Given the description of an element on the screen output the (x, y) to click on. 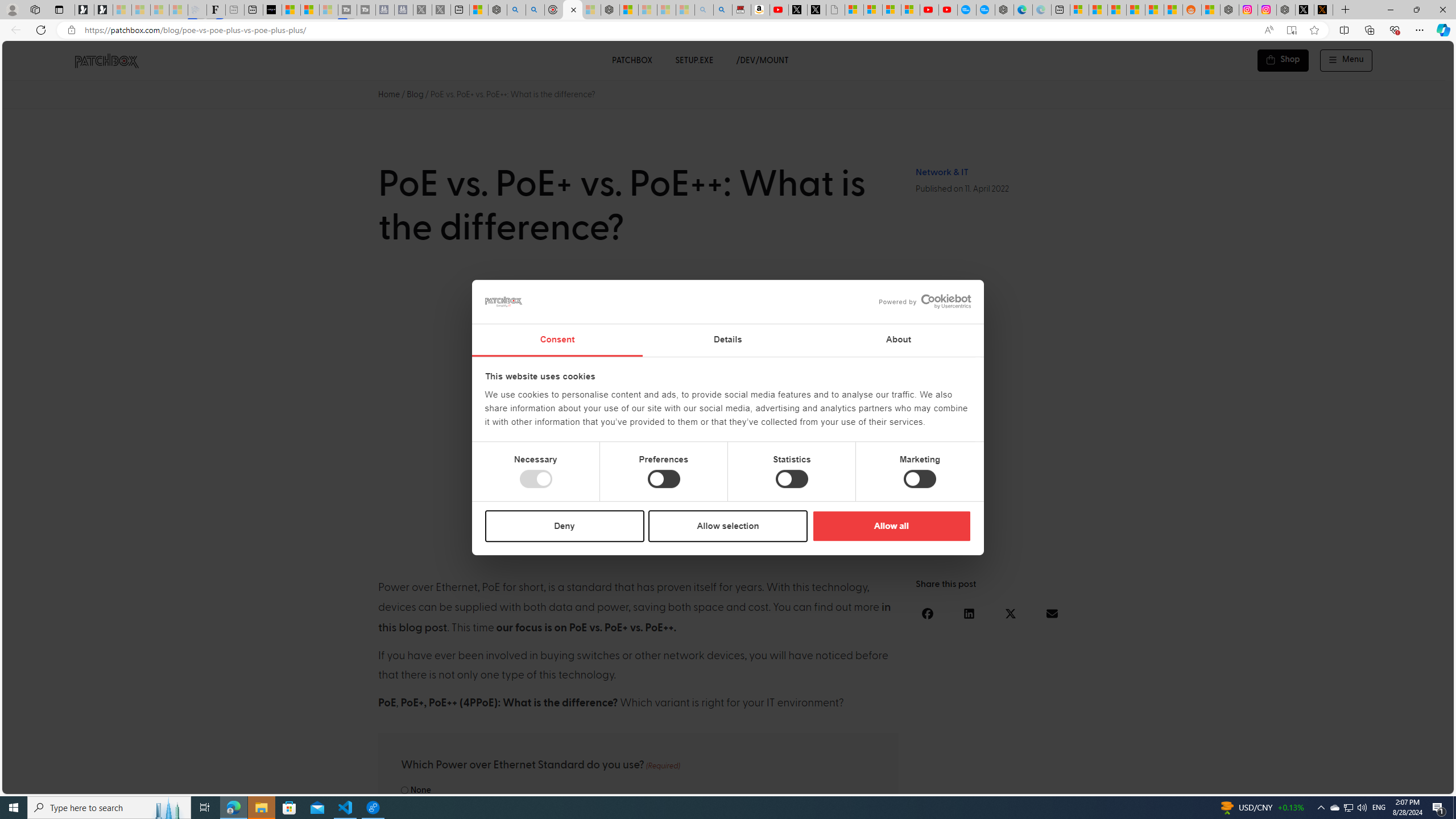
Deny (564, 525)
/DEV/MOUNT (762, 60)
Allow all (890, 525)
Network & IT (941, 171)
logo - opens in a new window (920, 301)
Preferences (663, 479)
Share on email (1051, 613)
